Given the description of an element on the screen output the (x, y) to click on. 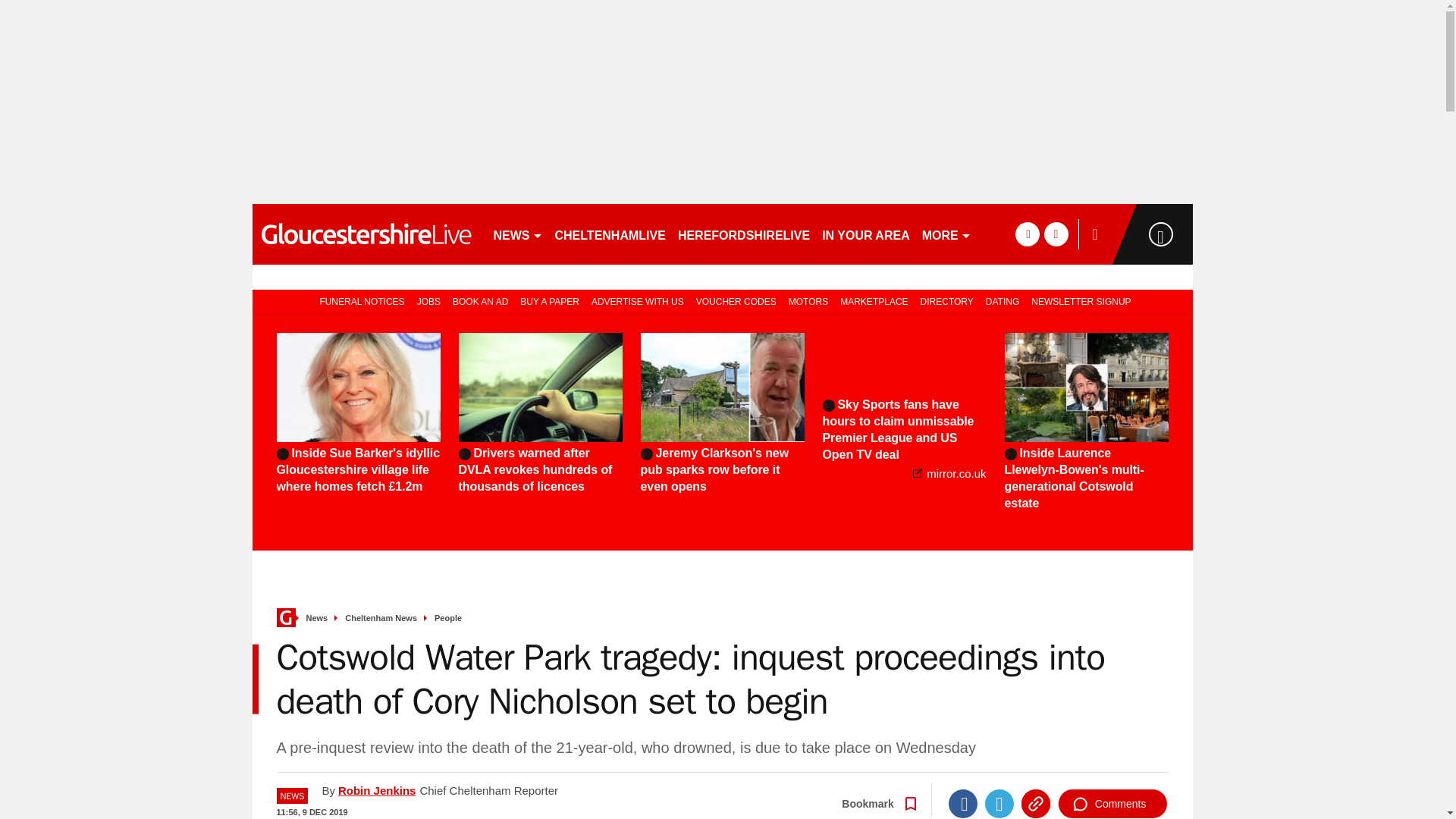
facebook (1026, 233)
MORE (945, 233)
CHELTENHAMLIVE (609, 233)
NEWS (517, 233)
HEREFORDSHIRELIVE (743, 233)
Comments (1112, 803)
Twitter (999, 803)
twitter (1055, 233)
gloucestershirelive (365, 233)
IN YOUR AREA (865, 233)
